Given the description of an element on the screen output the (x, y) to click on. 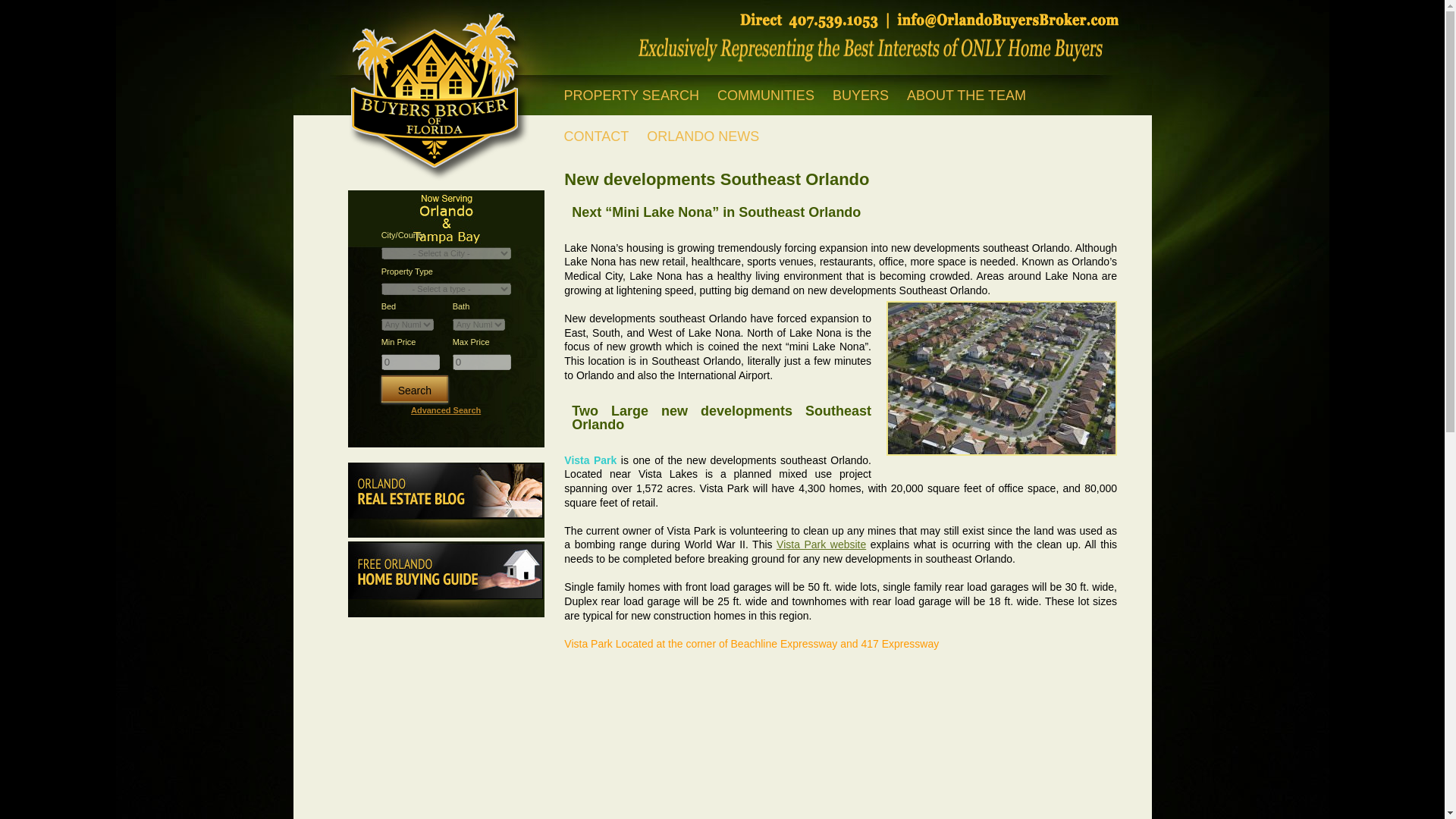
Orlando REAL ESTATE BLOG (445, 499)
Free Orlando HOME BUYING GUIDE (445, 579)
0 (481, 360)
Orlando Buyers Broker (436, 90)
new developments southeast Orlando (1001, 378)
CONTACT (596, 136)
ABOUT THE TEAM (966, 95)
Search (414, 388)
BUYERS (861, 95)
COMMUNITIES (765, 95)
0 (410, 360)
PROPERTY SEARCH (630, 95)
